Given the description of an element on the screen output the (x, y) to click on. 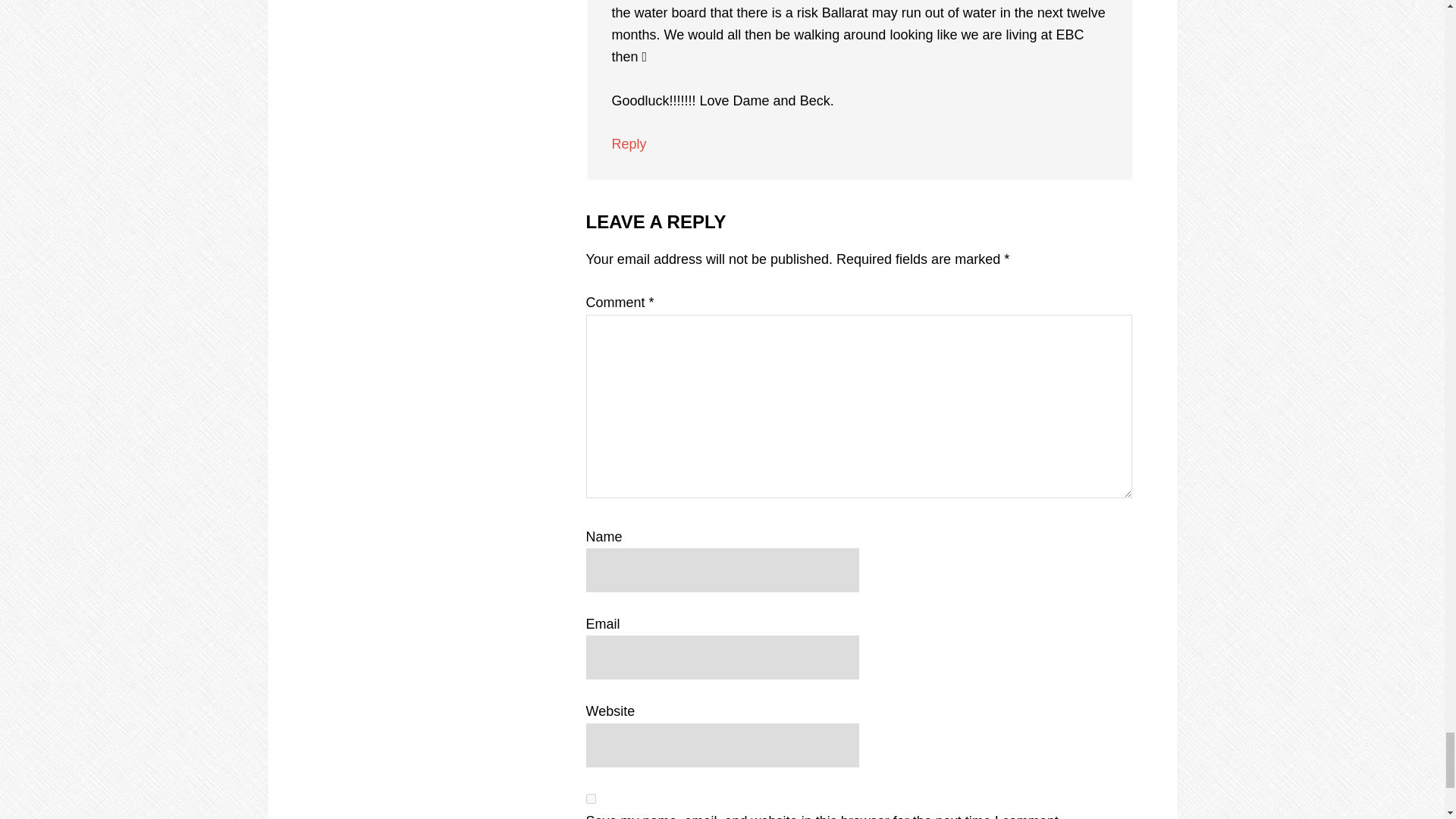
yes (590, 798)
